Given the description of an element on the screen output the (x, y) to click on. 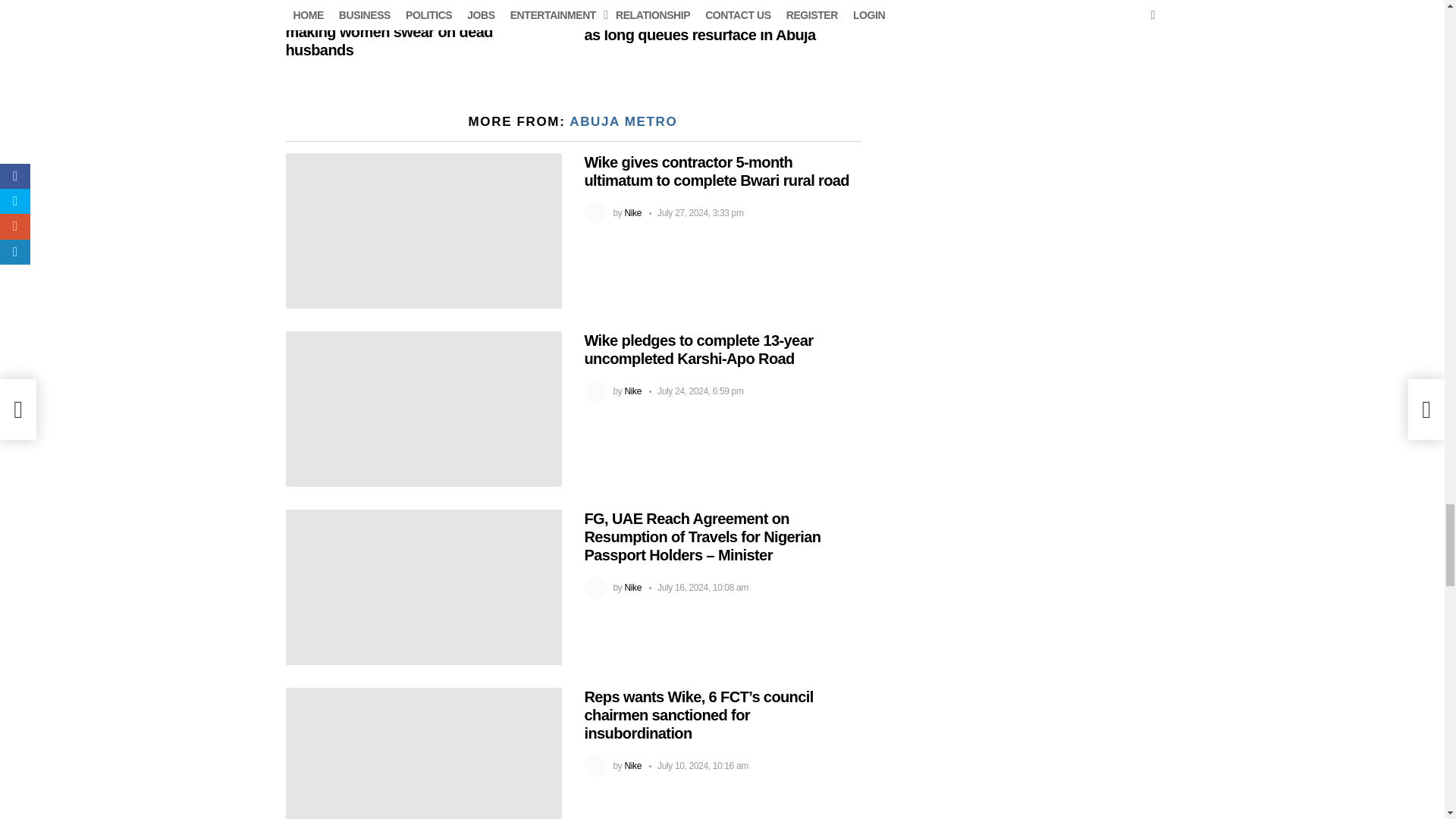
Posts by Nike (633, 213)
Wike pledges to complete 13-year uncompleted Karshi-Apo Road (422, 408)
Posts by Nike (633, 390)
